Given the description of an element on the screen output the (x, y) to click on. 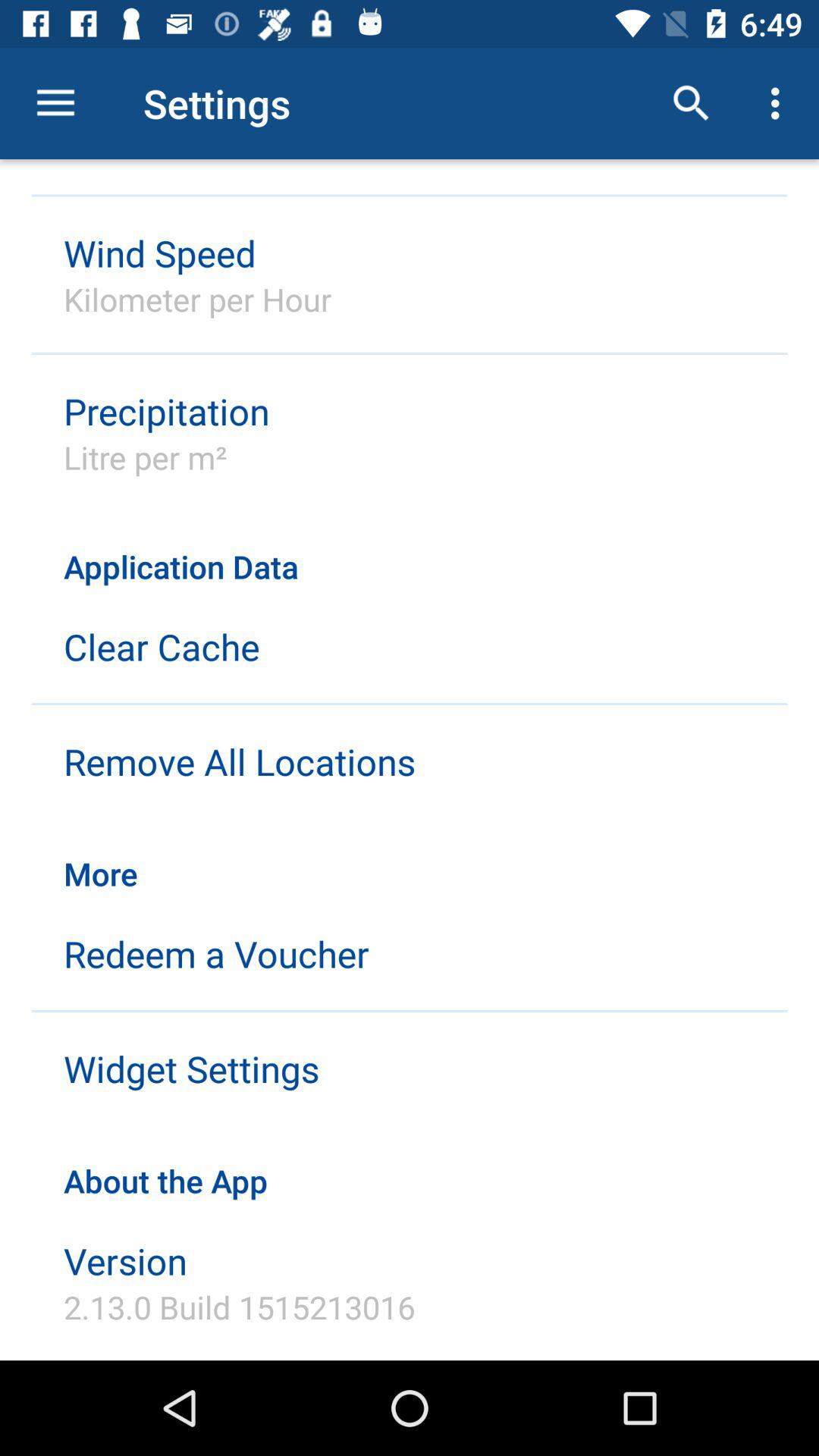
choose item above the kilometer per hour (159, 252)
